Given the description of an element on the screen output the (x, y) to click on. 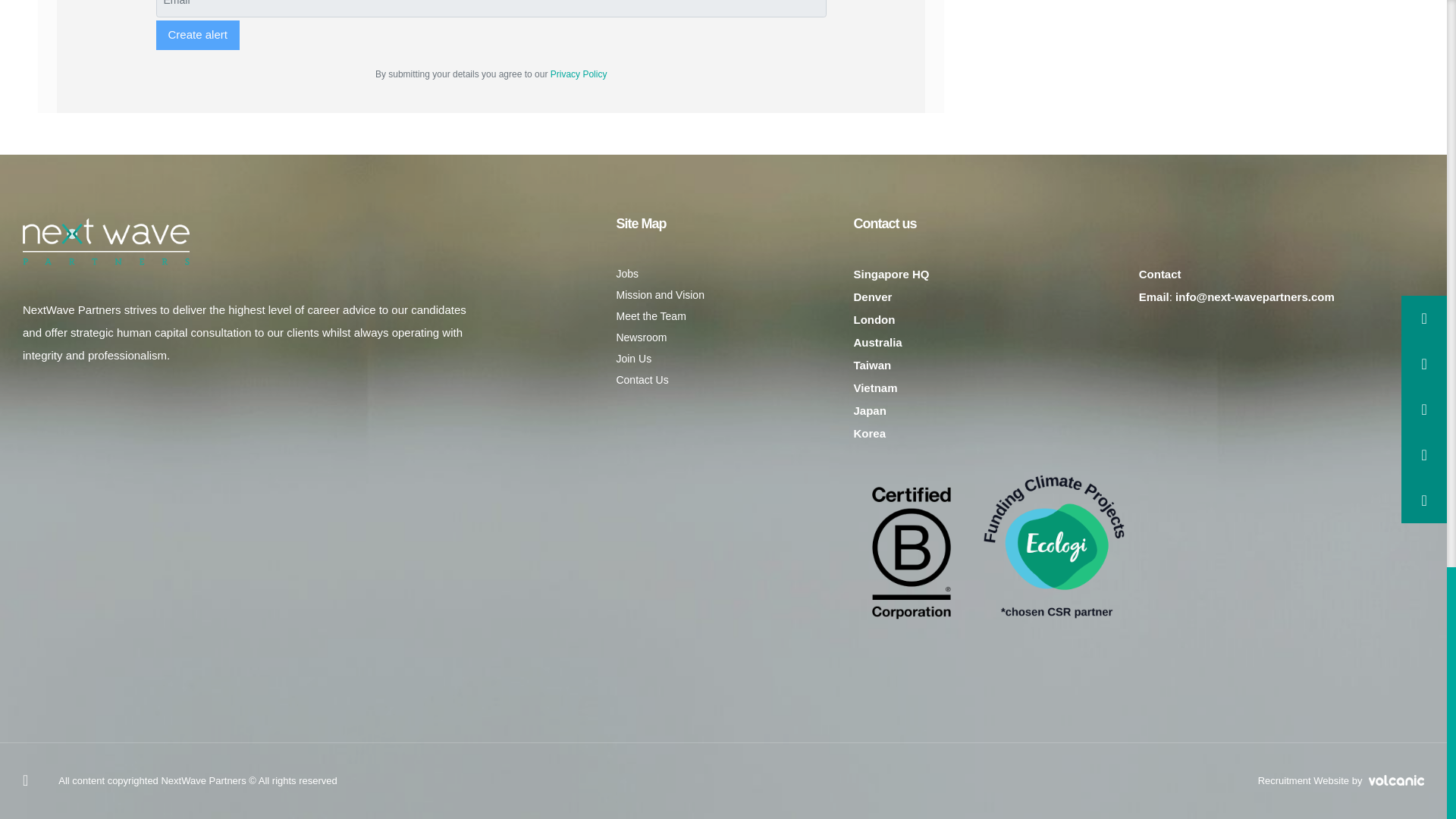
Go to the Homepage (106, 241)
